Given the description of an element on the screen output the (x, y) to click on. 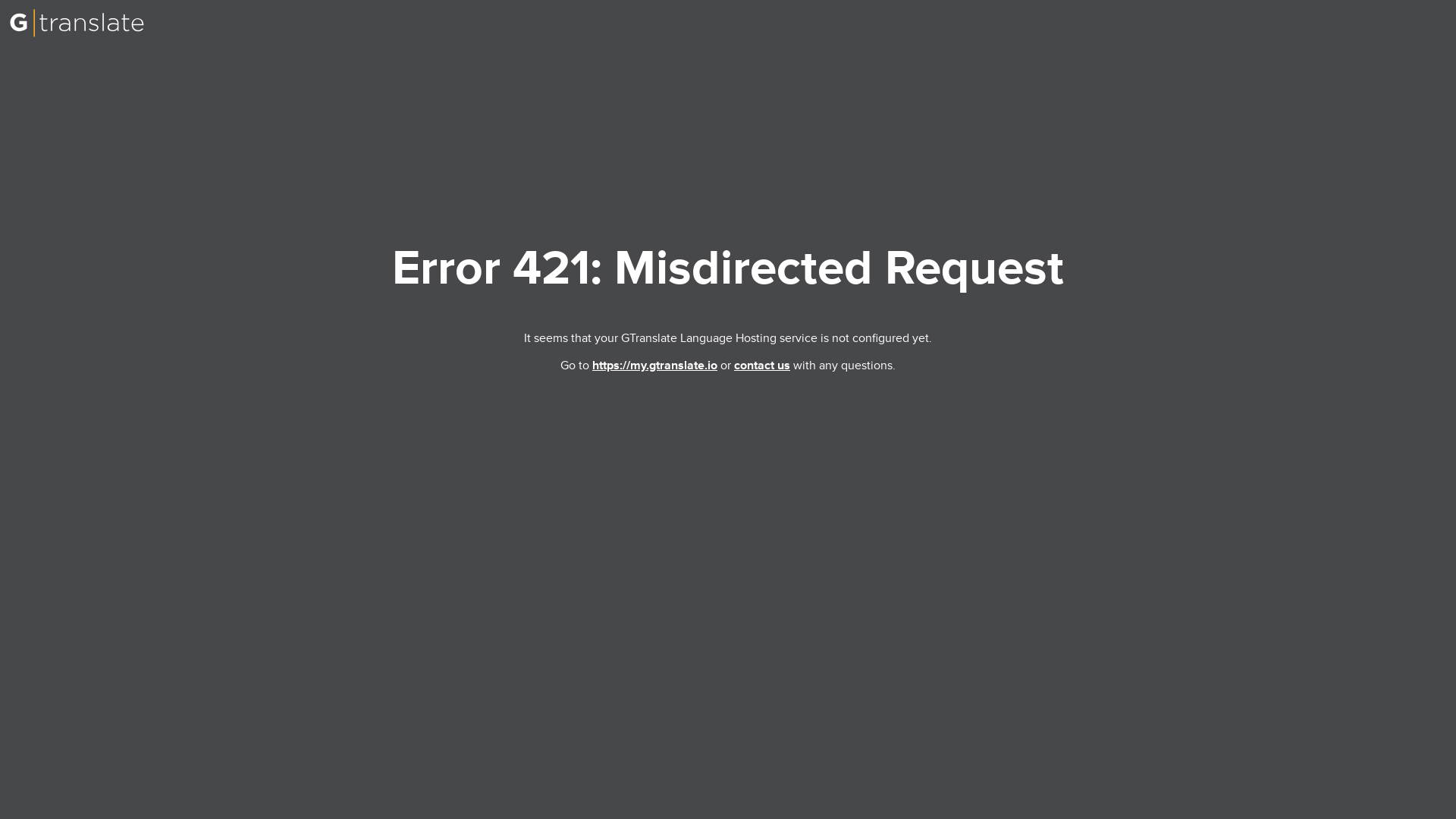
contact us (761, 365)
